Given the description of an element on the screen output the (x, y) to click on. 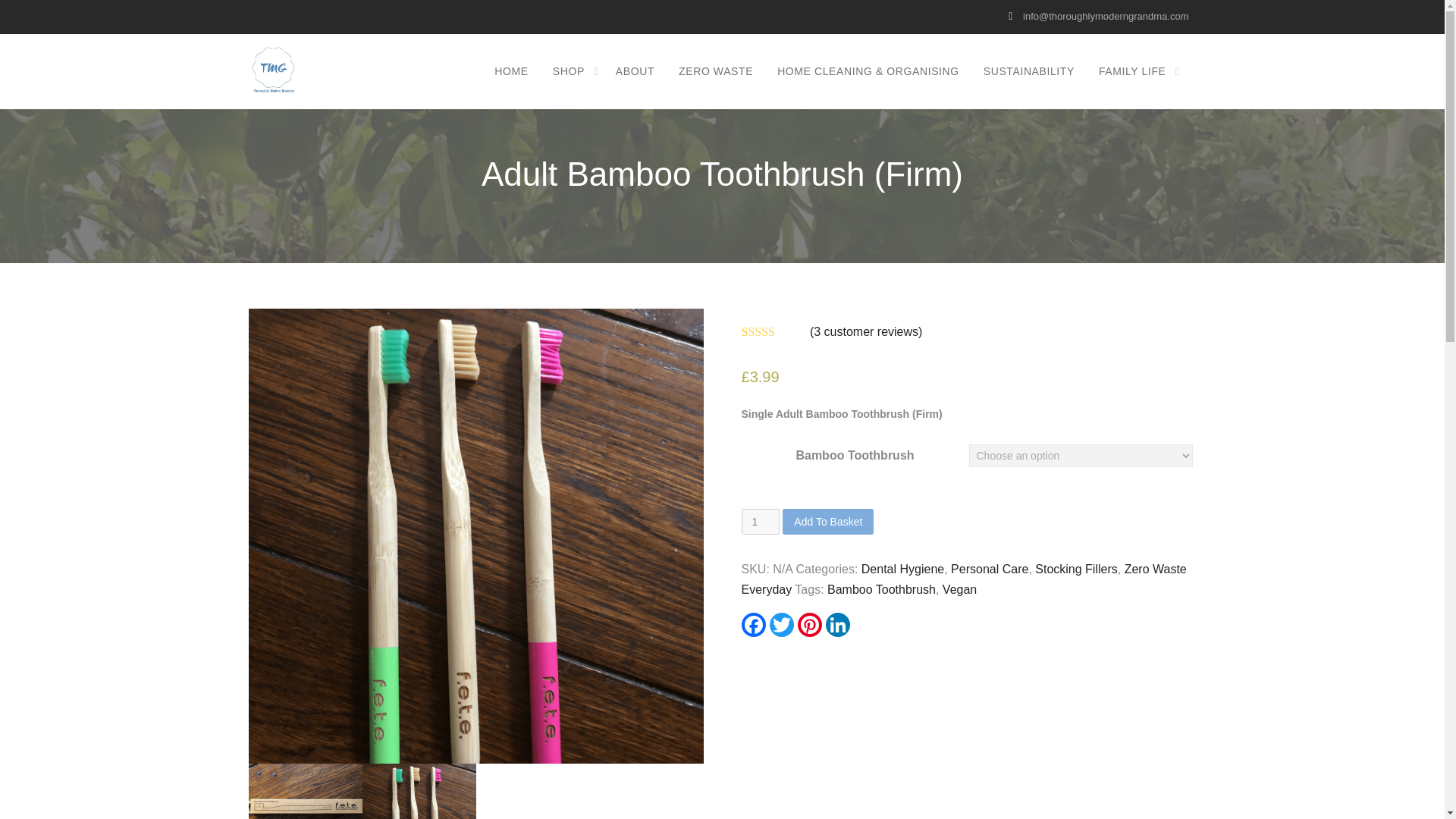
Untitled design - 2019-06-14T162922.931 (305, 791)
1 (760, 521)
Untitled design - 2019-07-26T174749.604 (419, 791)
SHOP (572, 71)
HOME (510, 71)
